Given the description of an element on the screen output the (x, y) to click on. 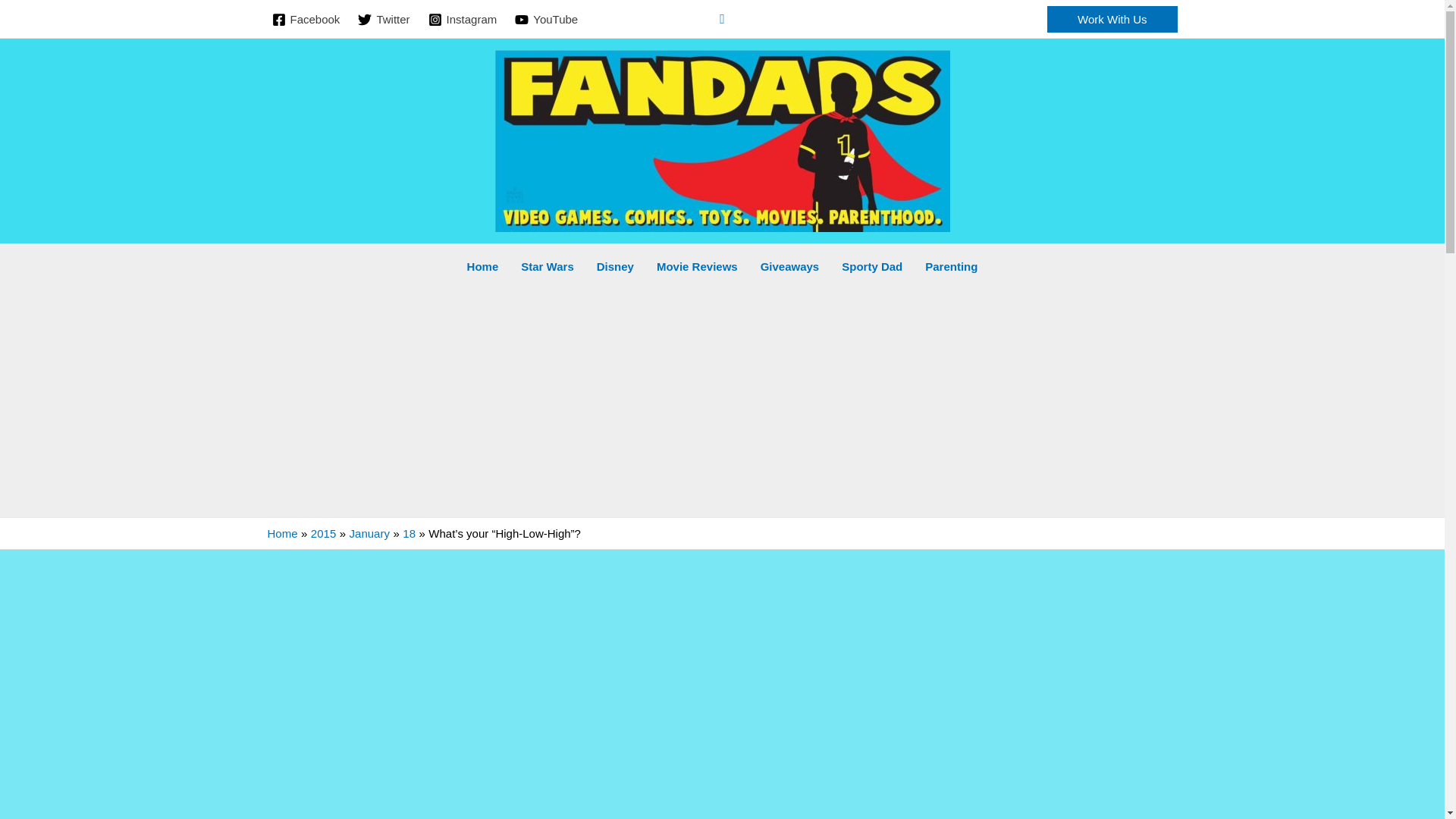
Disney (615, 266)
Home (483, 266)
YouTube (546, 19)
Star Wars (547, 266)
Twitter (383, 19)
Movie Reviews (697, 266)
Instagram (462, 19)
18 (408, 533)
Giveaways (790, 266)
